Given the description of an element on the screen output the (x, y) to click on. 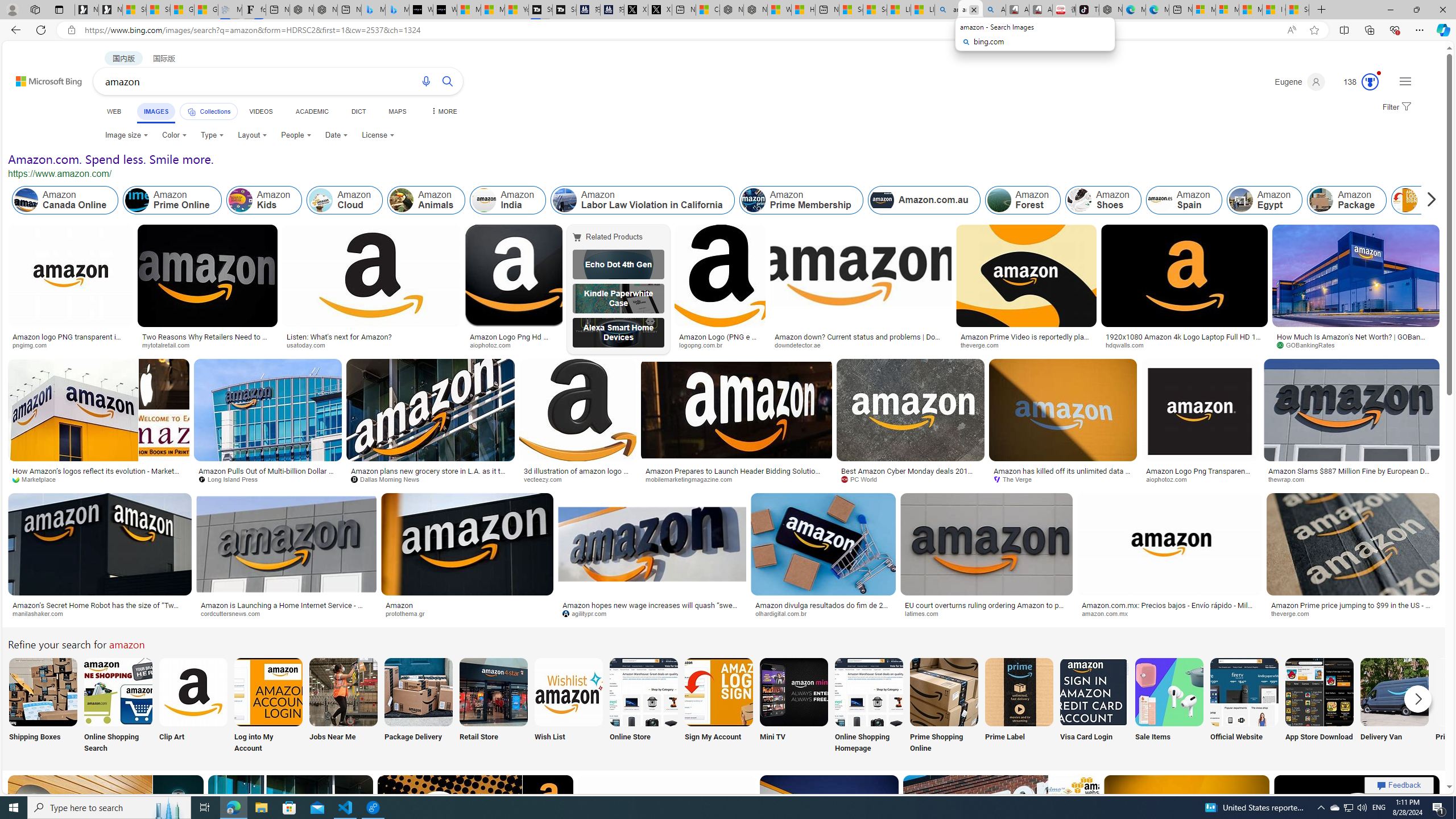
Two Reasons Why Retailers Need to Leverage Amazon (208, 340)
Amazon Sign in My Account Sign My Account (718, 706)
Layout (253, 135)
mytotalretail.com (207, 344)
amazon.com.mx (1169, 613)
Amazon Wish List Wish List (568, 706)
GOBankingRates (1355, 344)
usatoday.com (309, 344)
Amazon Delivery Van Delivery Van (1393, 706)
MAPS (397, 111)
Color (173, 135)
